Given the description of an element on the screen output the (x, y) to click on. 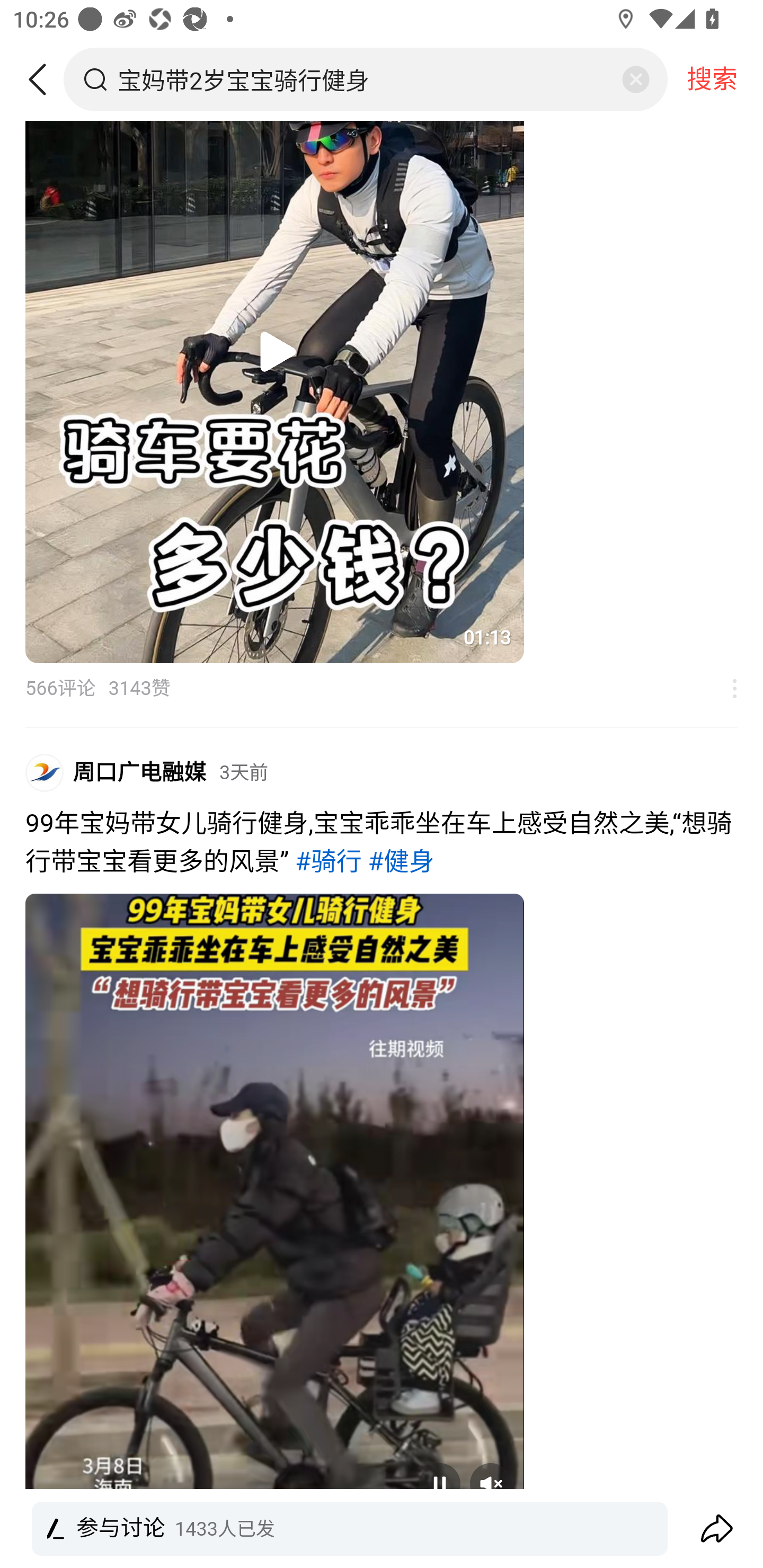
搜索框，宝妈带2岁宝宝骑行健身 (366, 79)
搜索 (711, 79)
返回 (44, 79)
清除 (635, 79)
举报反馈 (724, 688)
周口广电融媒 3天前 周口广电融媒 3天前 (381, 778)
周口广电融媒 3天前 (170, 772)
#骑行 (327, 862)
#健身 (401, 862)
取消静音 (490, 1482)
举报反馈 (724, 1541)
